Given the description of an element on the screen output the (x, y) to click on. 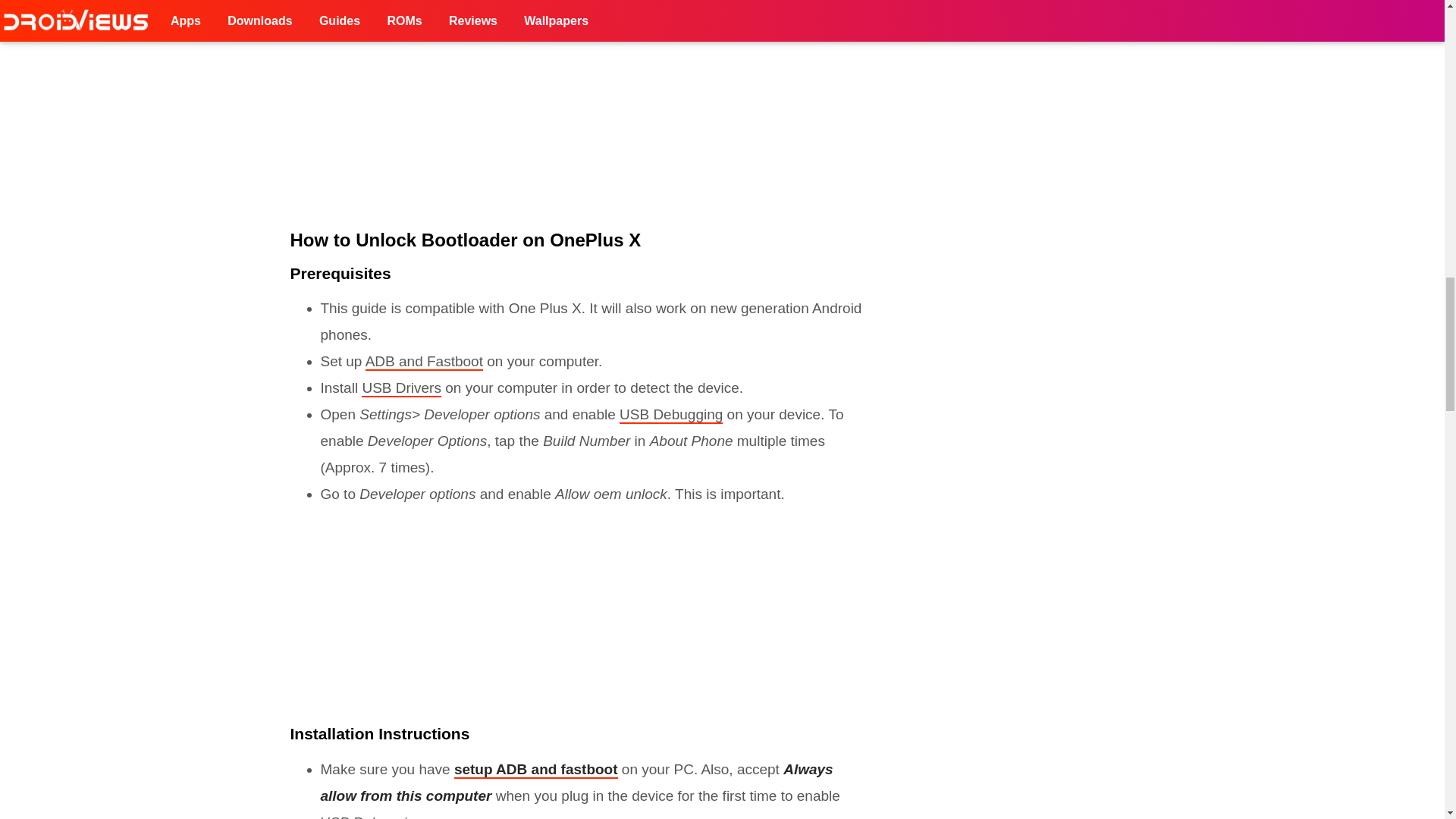
ADB and Fastboot (424, 361)
USB Drivers (401, 388)
USB Debugging (671, 415)
setup ADB and fastboot (535, 769)
